Given the description of an element on the screen output the (x, y) to click on. 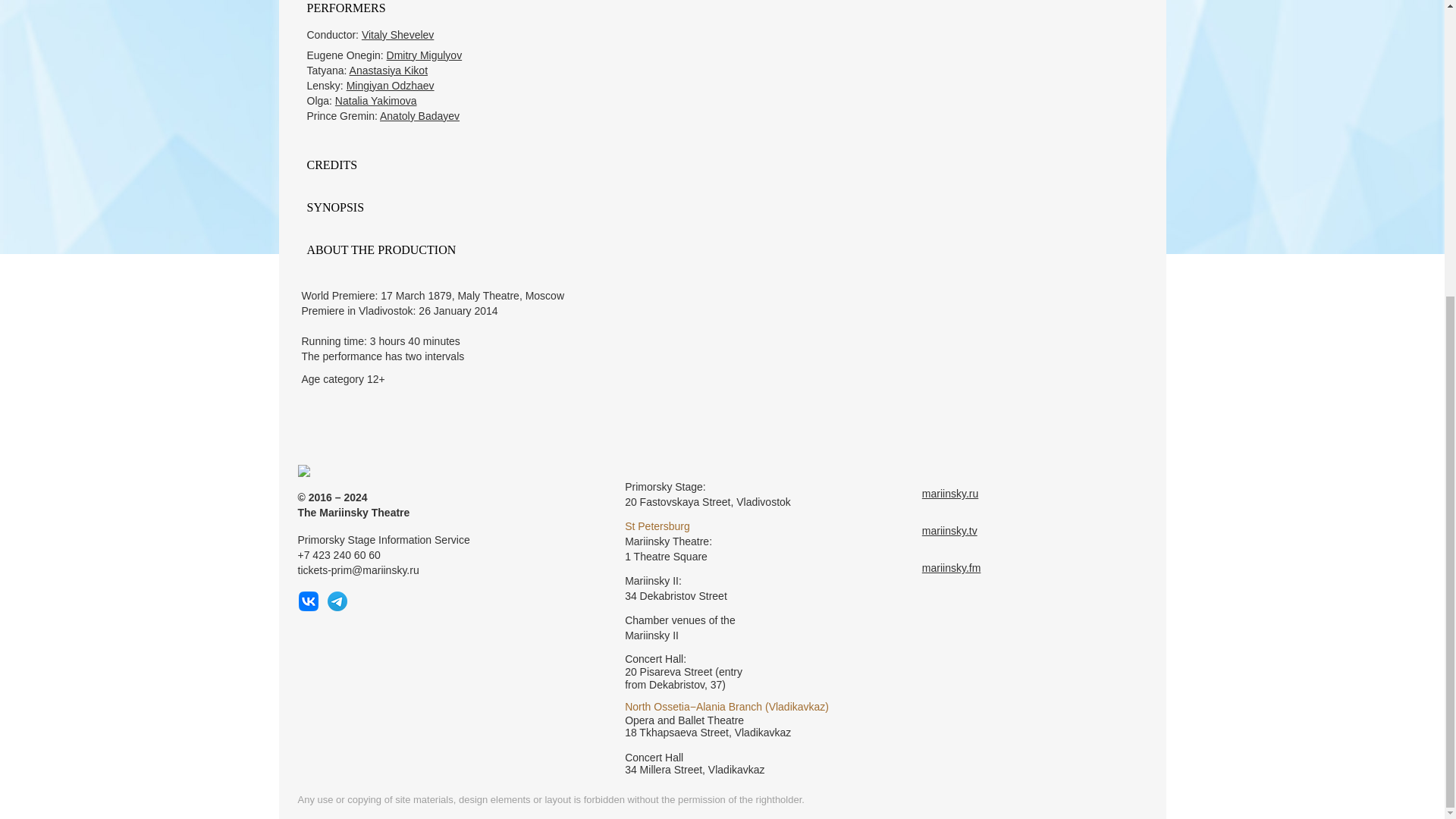
Natalia Yakimova (375, 101)
Vitaly Shevelev (397, 34)
Anatoly Badayev (420, 115)
Dmitry Migulyov (425, 55)
Anastasiya Kikot (388, 70)
Mingiyan Odzhaev (389, 85)
